Given the description of an element on the screen output the (x, y) to click on. 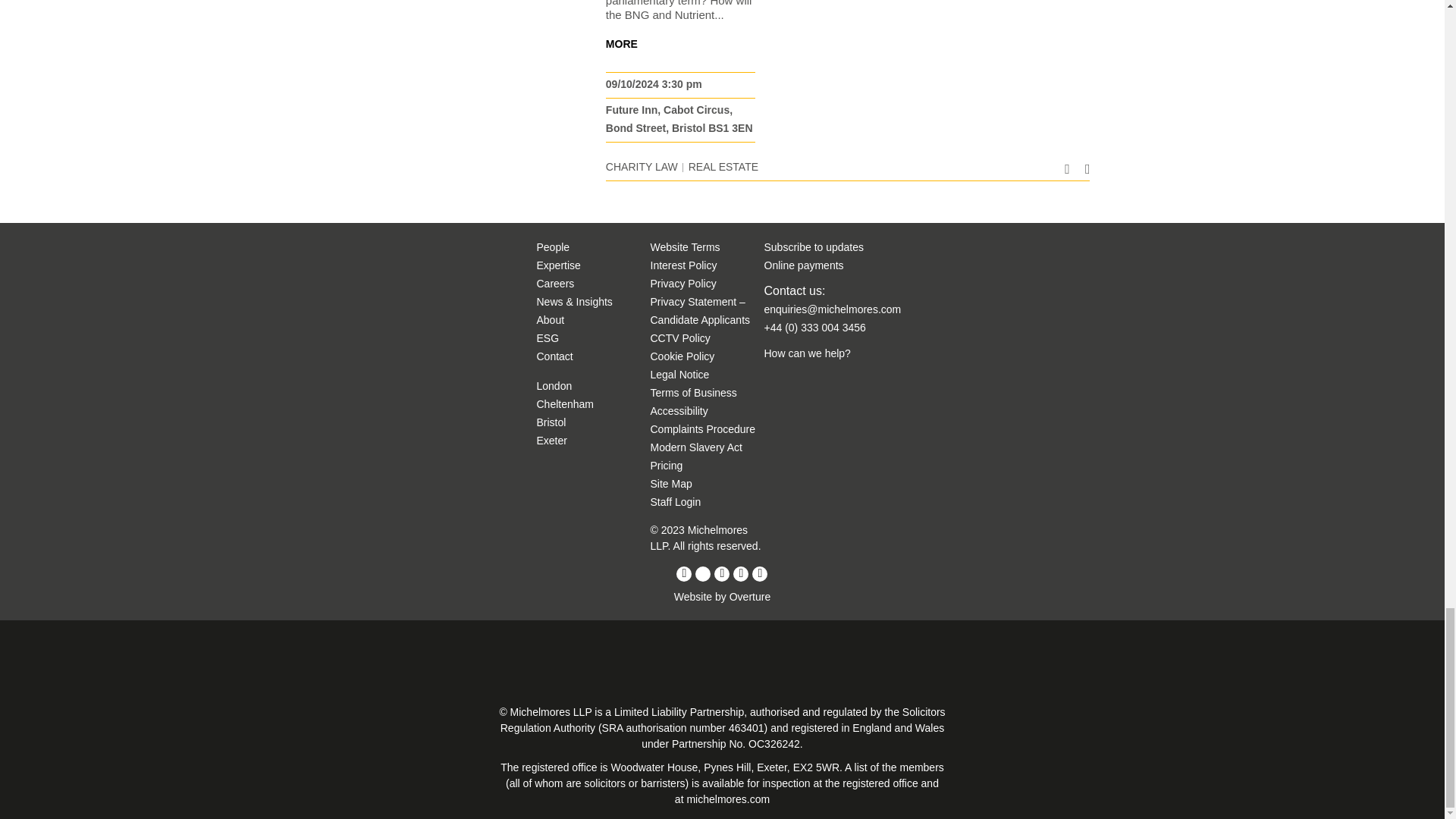
MORE (621, 43)
Website Terms (685, 246)
Future Inn, Cabot Circus, Bond Street, Bristol BS1 3EN (678, 119)
People (553, 246)
London (554, 386)
CHARITY LAW (641, 166)
Expertise (558, 265)
Exeter (552, 440)
About (550, 319)
REAL ESTATE (723, 166)
ESG (548, 337)
Bristol (551, 422)
Cheltenham (565, 404)
Contact (555, 356)
Careers (556, 283)
